Given the description of an element on the screen output the (x, y) to click on. 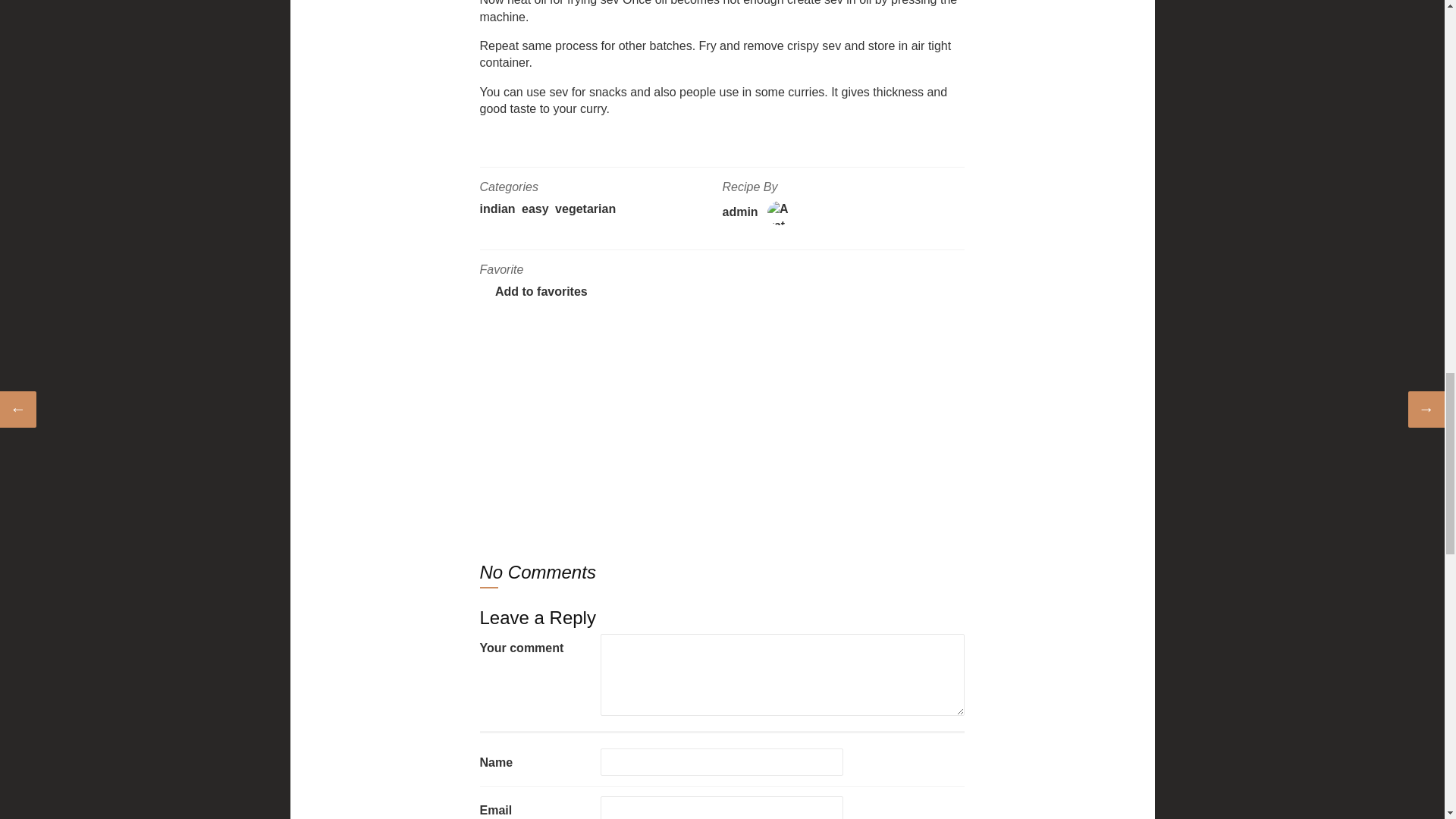
indian (497, 208)
admin (739, 211)
easy (534, 208)
vegetarian (584, 208)
